Given the description of an element on the screen output the (x, y) to click on. 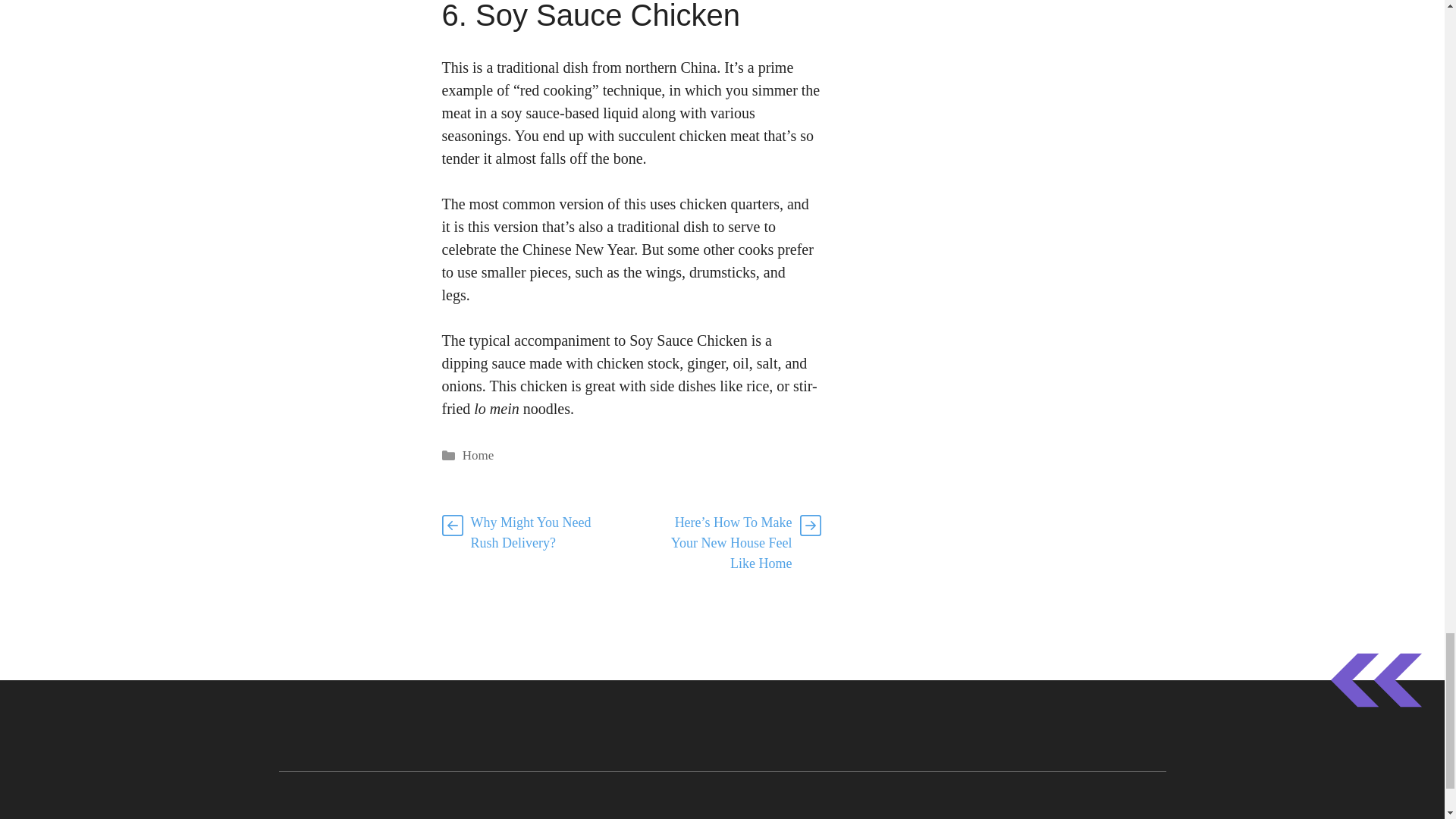
Home (479, 454)
Why Might You Need Rush Delivery? (530, 532)
